Given the description of an element on the screen output the (x, y) to click on. 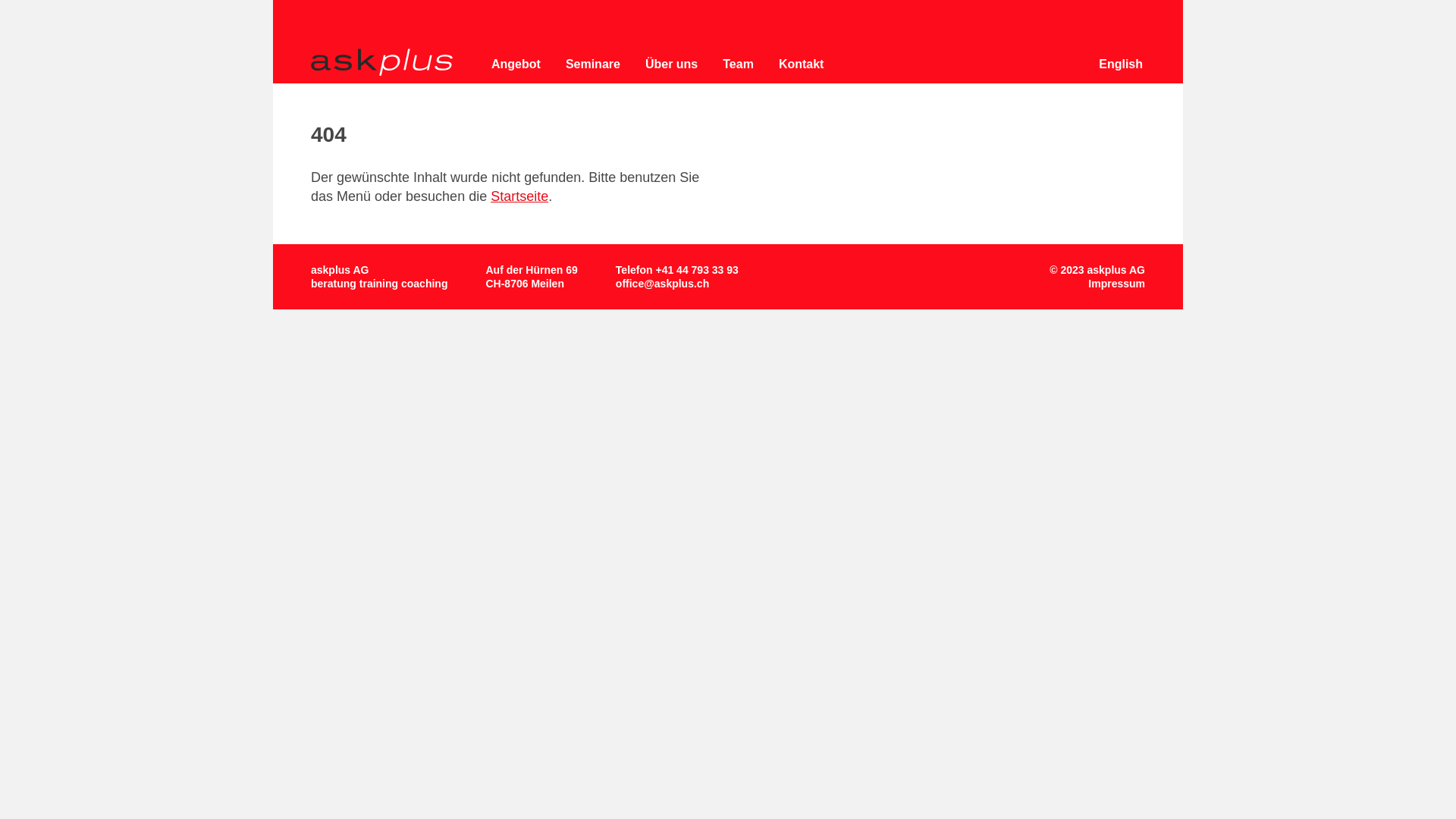
Seminare Element type: text (592, 63)
English Element type: text (1120, 63)
Team Element type: text (738, 63)
office@askplus.ch Element type: text (662, 283)
Angebot Element type: text (516, 63)
Impressum Element type: text (1116, 283)
askplus AG Element type: text (381, 61)
Kontakt Element type: text (801, 63)
Startseite Element type: text (519, 195)
